Given the description of an element on the screen output the (x, y) to click on. 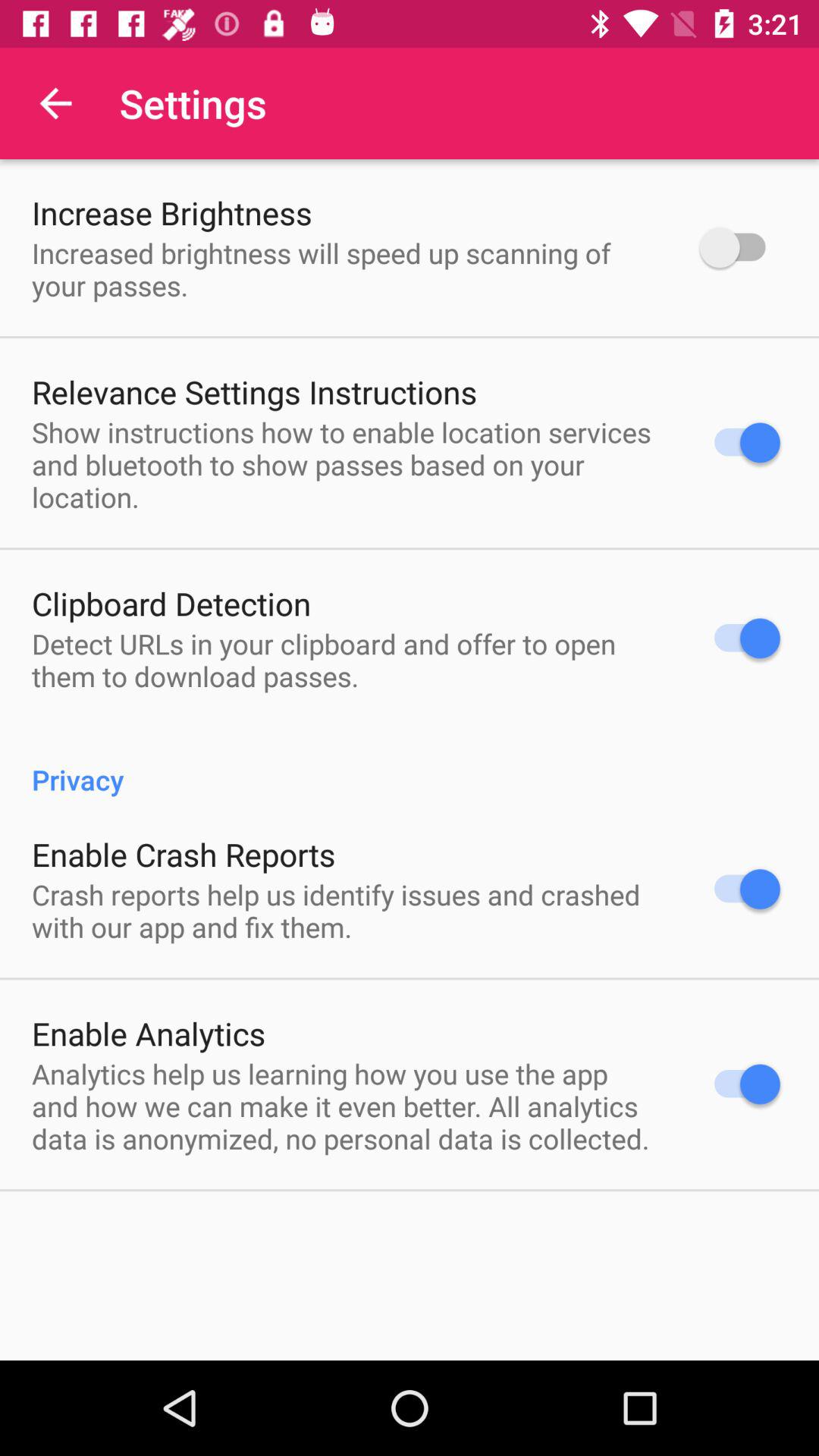
press icon below the increase brightness icon (345, 269)
